Given the description of an element on the screen output the (x, y) to click on. 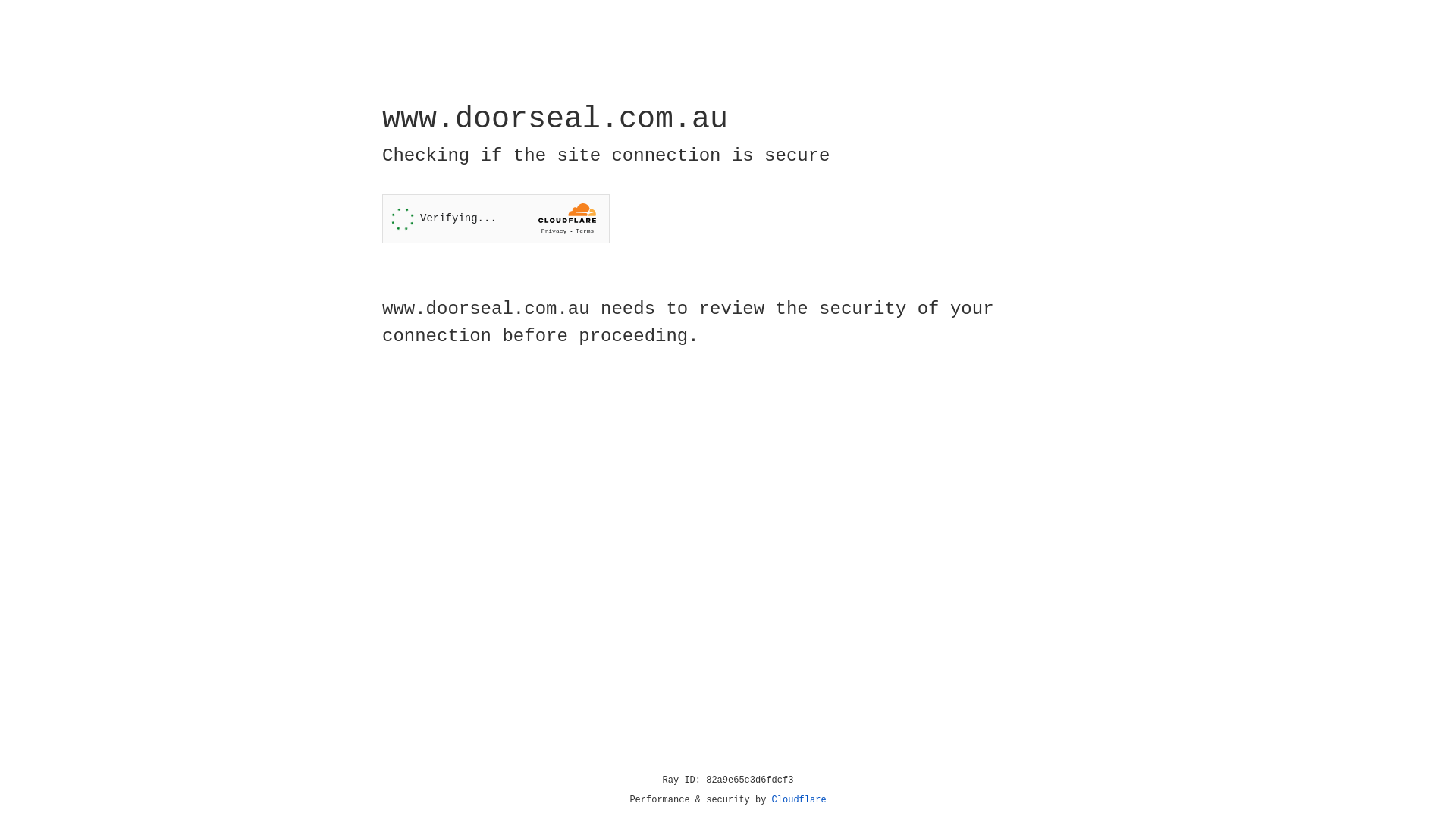
Cloudflare Element type: text (798, 799)
Widget containing a Cloudflare security challenge Element type: hover (495, 218)
